Given the description of an element on the screen output the (x, y) to click on. 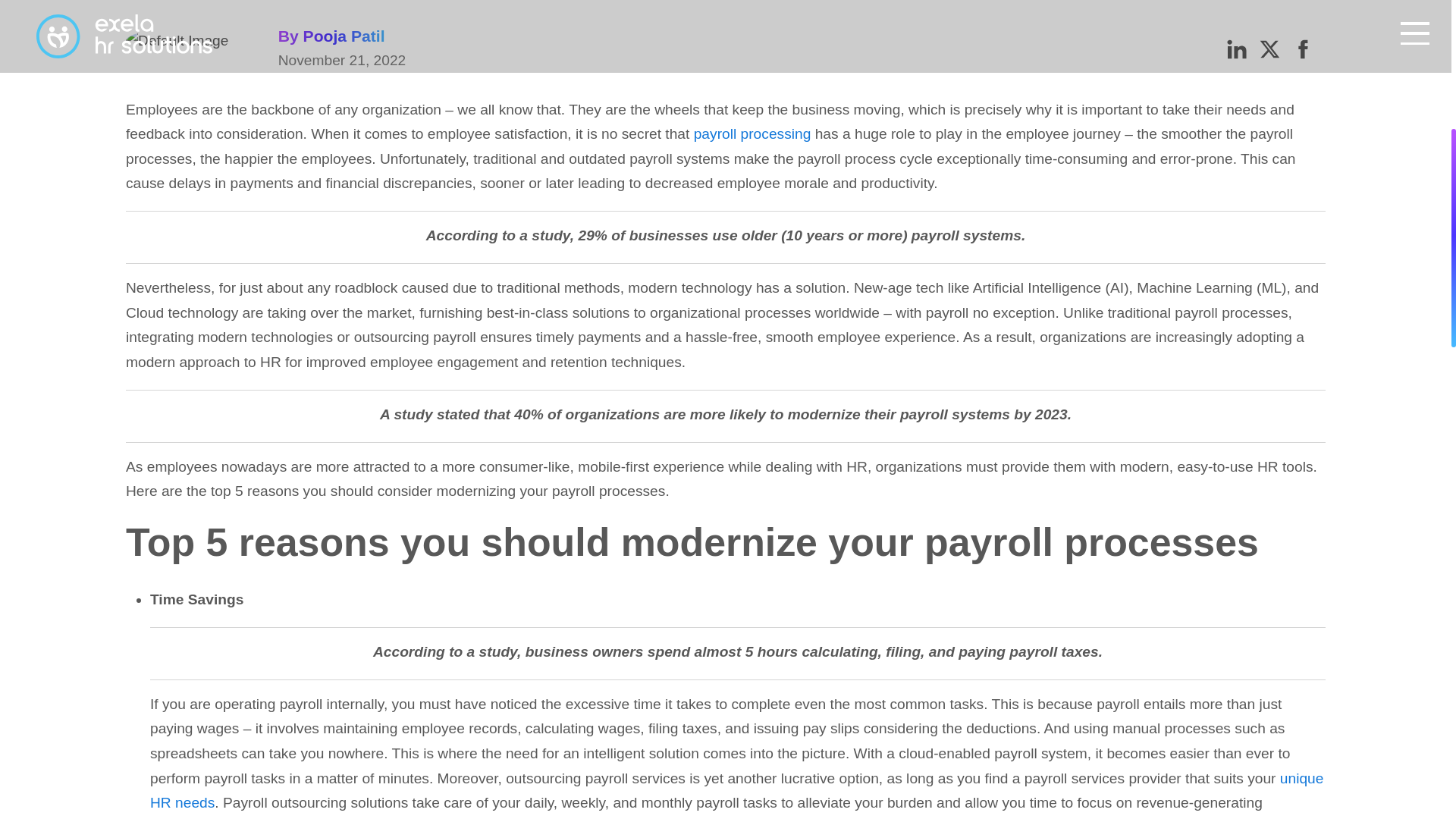
Linkedin (1236, 48)
Default Image (176, 41)
Facebook (1303, 48)
Twitter (1270, 48)
unique HR needs (736, 790)
payroll processing (752, 133)
